Given the description of an element on the screen output the (x, y) to click on. 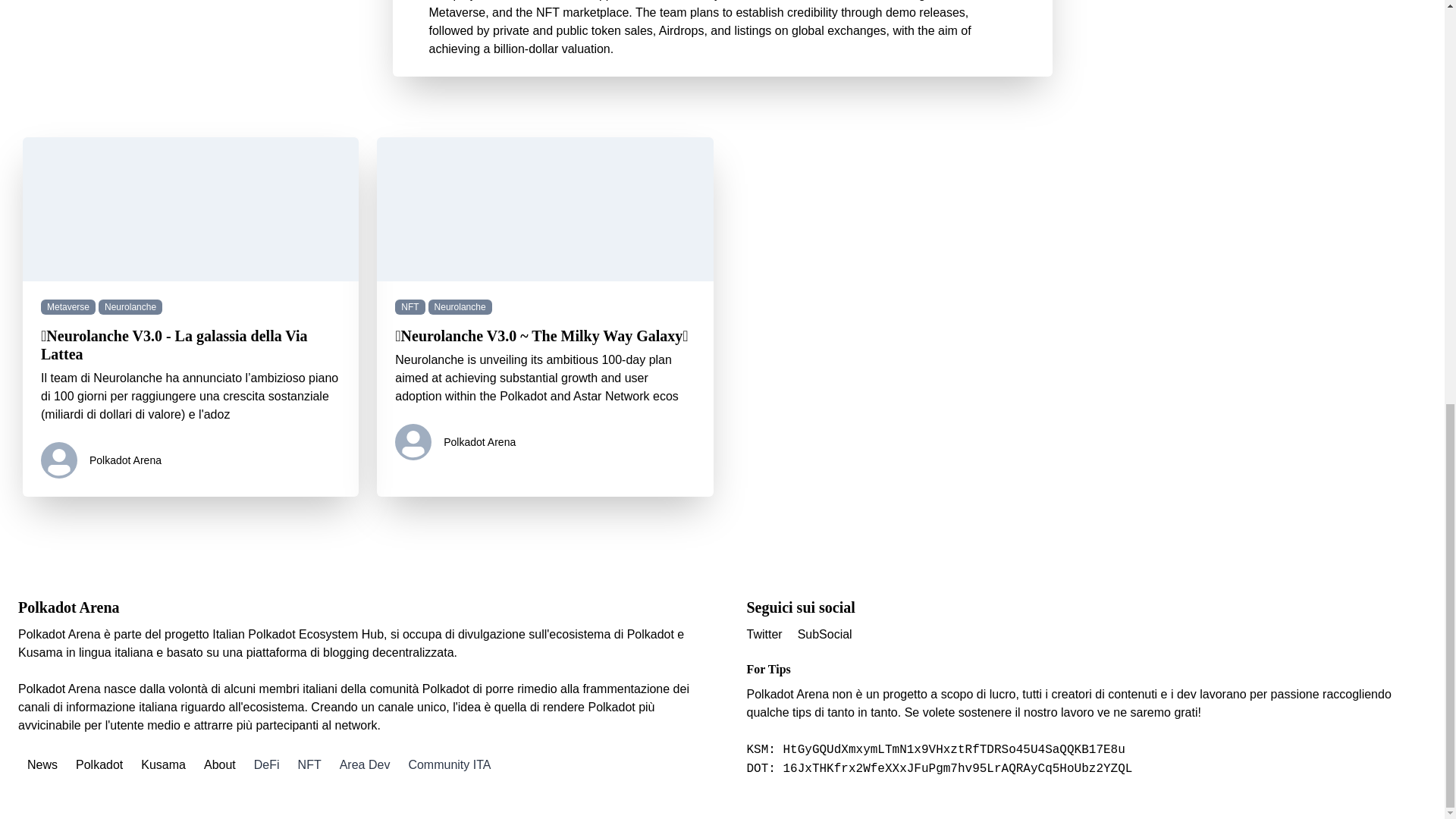
Metaverse (68, 308)
Polkadot (99, 764)
Area Dev (364, 764)
Kusama (163, 764)
Community ITA (448, 764)
News (41, 764)
DeFi (266, 764)
NFT (309, 764)
About (219, 764)
Neurolanche (460, 308)
Neurolanche (130, 308)
NFT (409, 308)
